Given the description of an element on the screen output the (x, y) to click on. 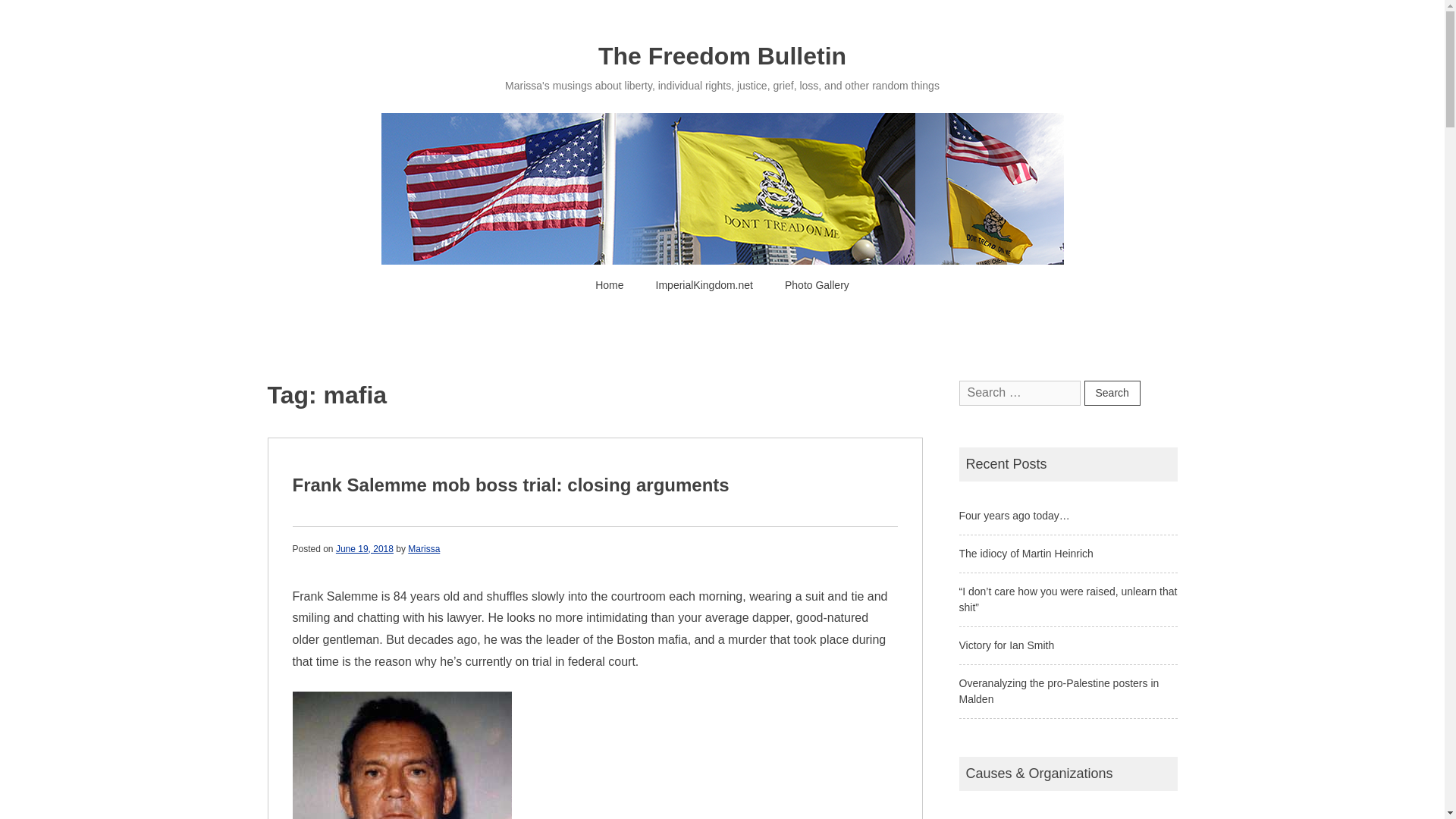
Marissa (423, 547)
The idiocy of Martin Heinrich (1025, 553)
Photo Gallery (816, 285)
June 19, 2018 (364, 547)
The Freedom Bulletin (721, 55)
Home (609, 285)
Victory for Ian Smith (1006, 645)
ImperialKingdom.net (704, 285)
Frank Salemme mob boss trial: closing arguments (510, 485)
Search (1112, 392)
Search (1112, 392)
Search (1112, 392)
Overanalyzing the pro-Palestine posters in Malden (1058, 691)
